Given the description of an element on the screen output the (x, y) to click on. 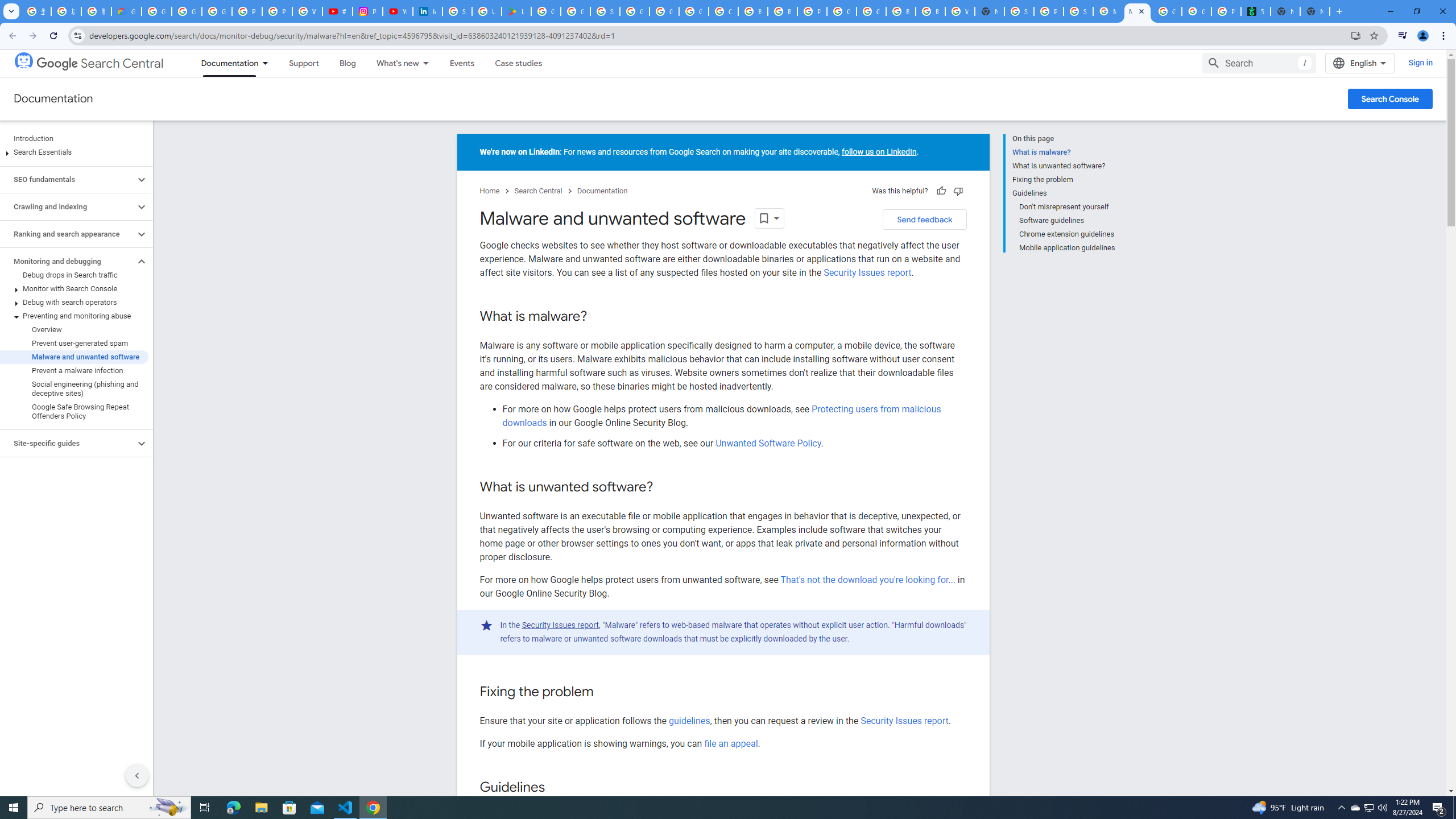
Fixing the problem (1063, 179)
Install Google Developers (1355, 35)
Google Search Central (99, 63)
Google Cloud Platform (664, 11)
Google Cloud Platform (841, 11)
Open dropdown (769, 218)
Case studies (518, 62)
Last Shelter: Survival - Apps on Google Play (515, 11)
Documentation, selected (224, 62)
Not helpful (957, 190)
Preventing and monitoring abuse (74, 315)
Google Safe Browsing Repeat Offenders Policy (74, 411)
